Given the description of an element on the screen output the (x, y) to click on. 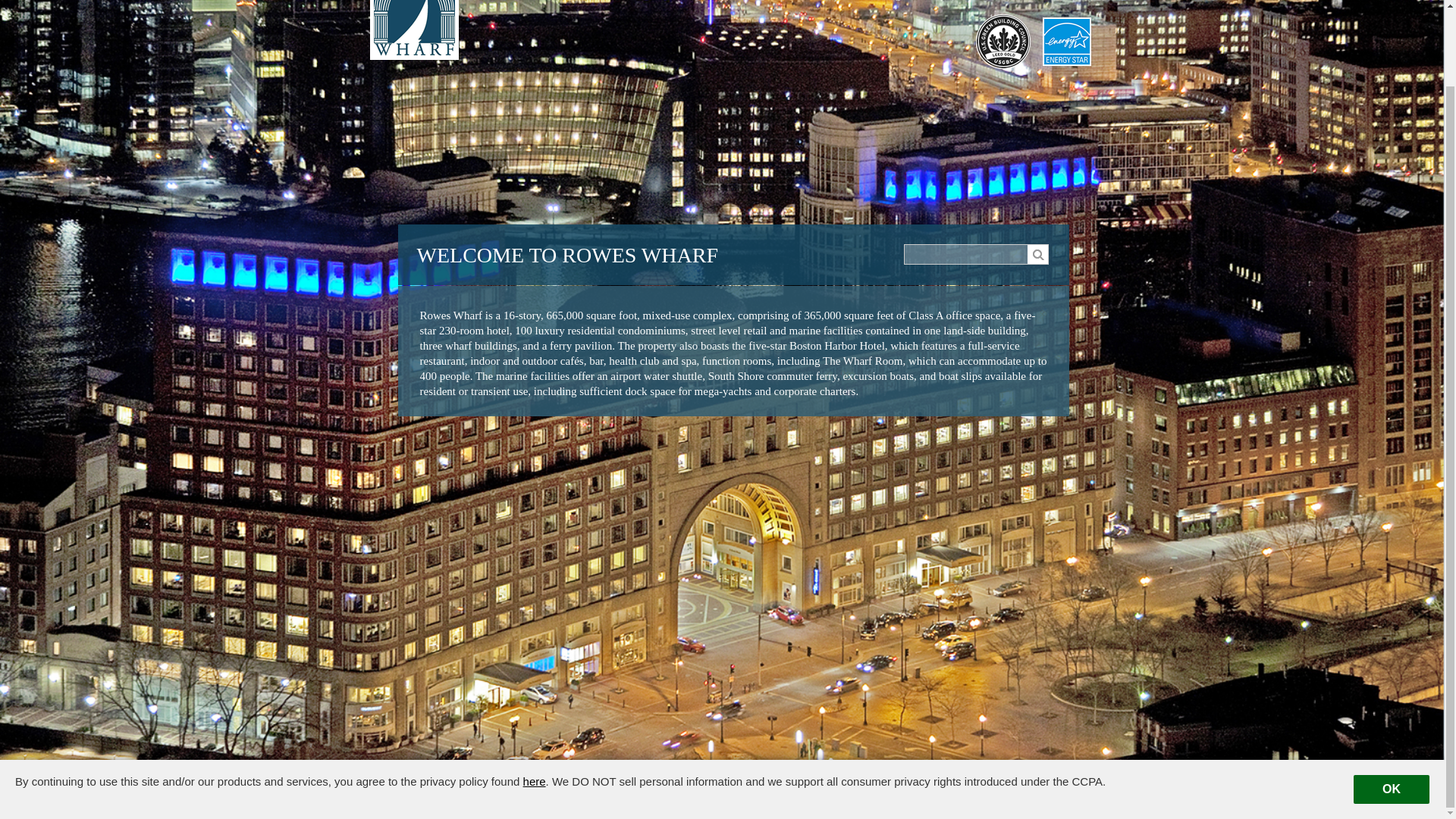
here (534, 696)
